Given the description of an element on the screen output the (x, y) to click on. 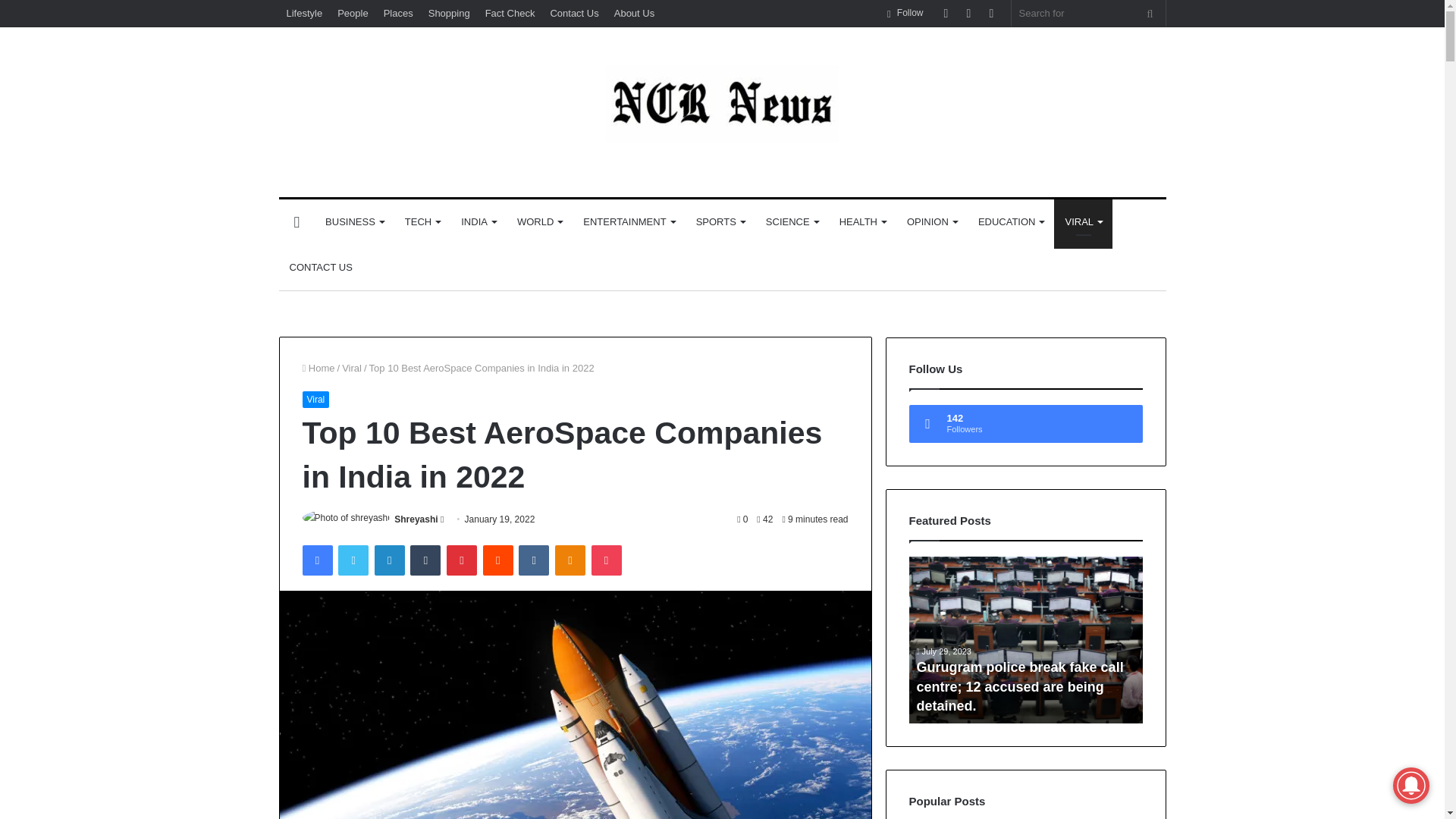
BUSINESS (354, 221)
Lifestyle (304, 13)
Facebook (316, 560)
VKontakte (533, 560)
Search for (1149, 13)
Places (397, 13)
Pinterest (461, 560)
Contact Us (573, 13)
Fact Check (510, 13)
Follow (905, 13)
Reddit (498, 560)
Shopping (448, 13)
Odnoklassniki (569, 560)
About Us (634, 13)
TECH (421, 221)
